Given the description of an element on the screen output the (x, y) to click on. 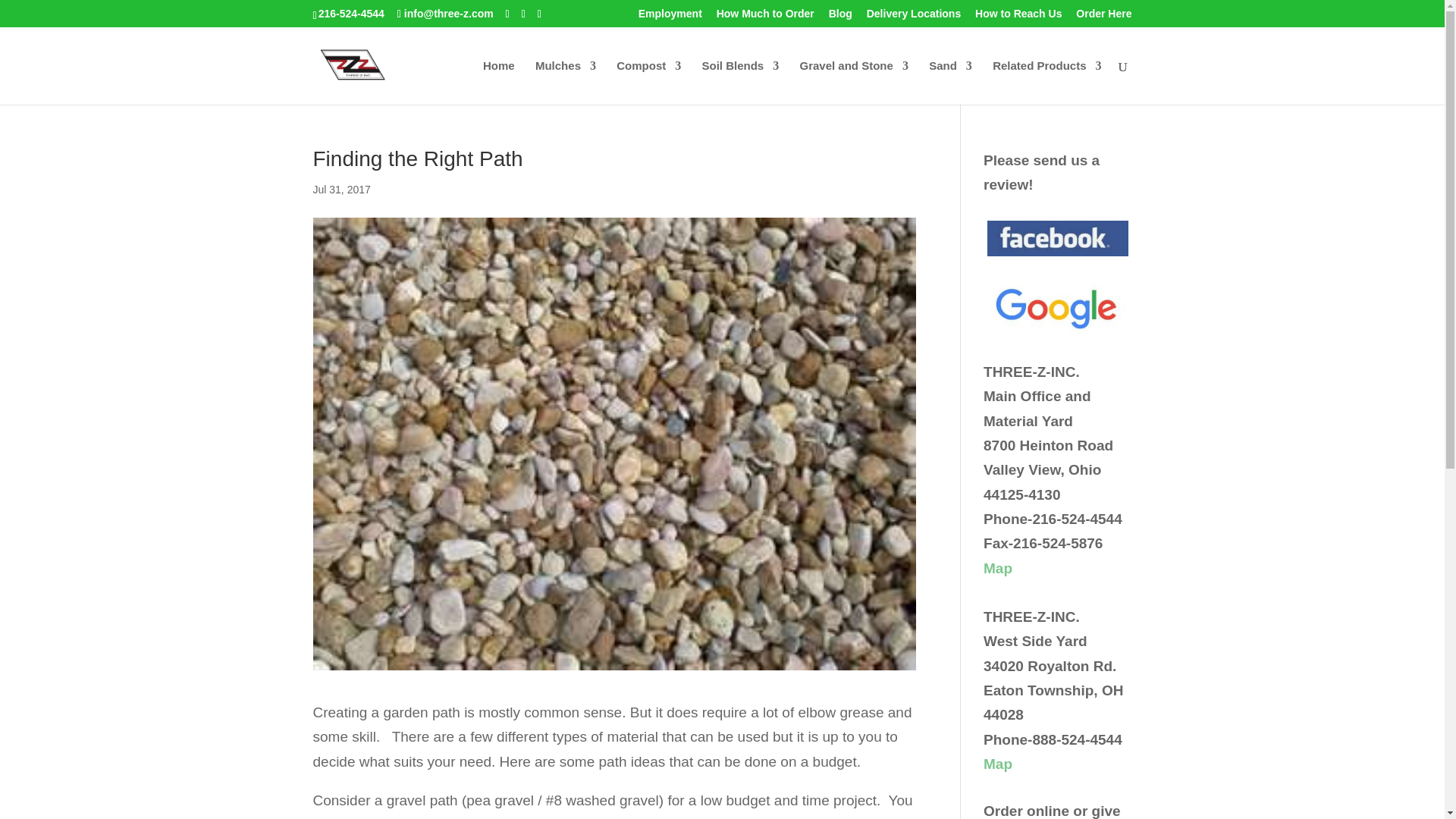
How to Reach Us (1018, 16)
Delivery Locations (913, 16)
Employment (670, 16)
Mulches (565, 82)
Compost (648, 82)
How Much to Order (764, 16)
Order Here (1103, 16)
Blog (839, 16)
Gravel and Stone (853, 82)
Soil Blends (739, 82)
